Given the description of an element on the screen output the (x, y) to click on. 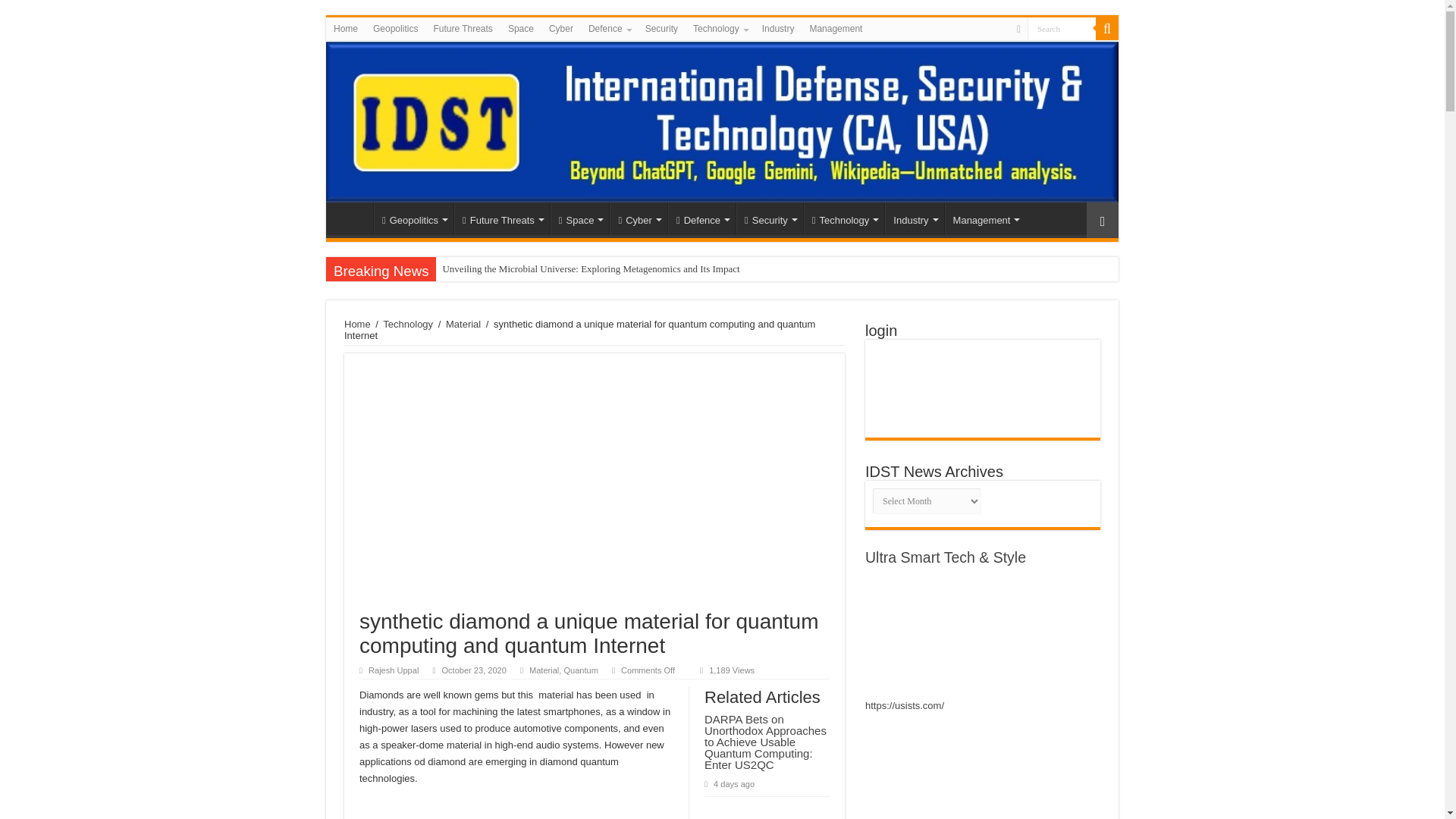
Space (520, 28)
Industry (778, 28)
Management (835, 28)
Home (352, 218)
Home (345, 28)
Geopolitics (413, 218)
Cyber (560, 28)
Technology (719, 28)
Geopolitics (395, 28)
Search (1061, 28)
